Given the description of an element on the screen output the (x, y) to click on. 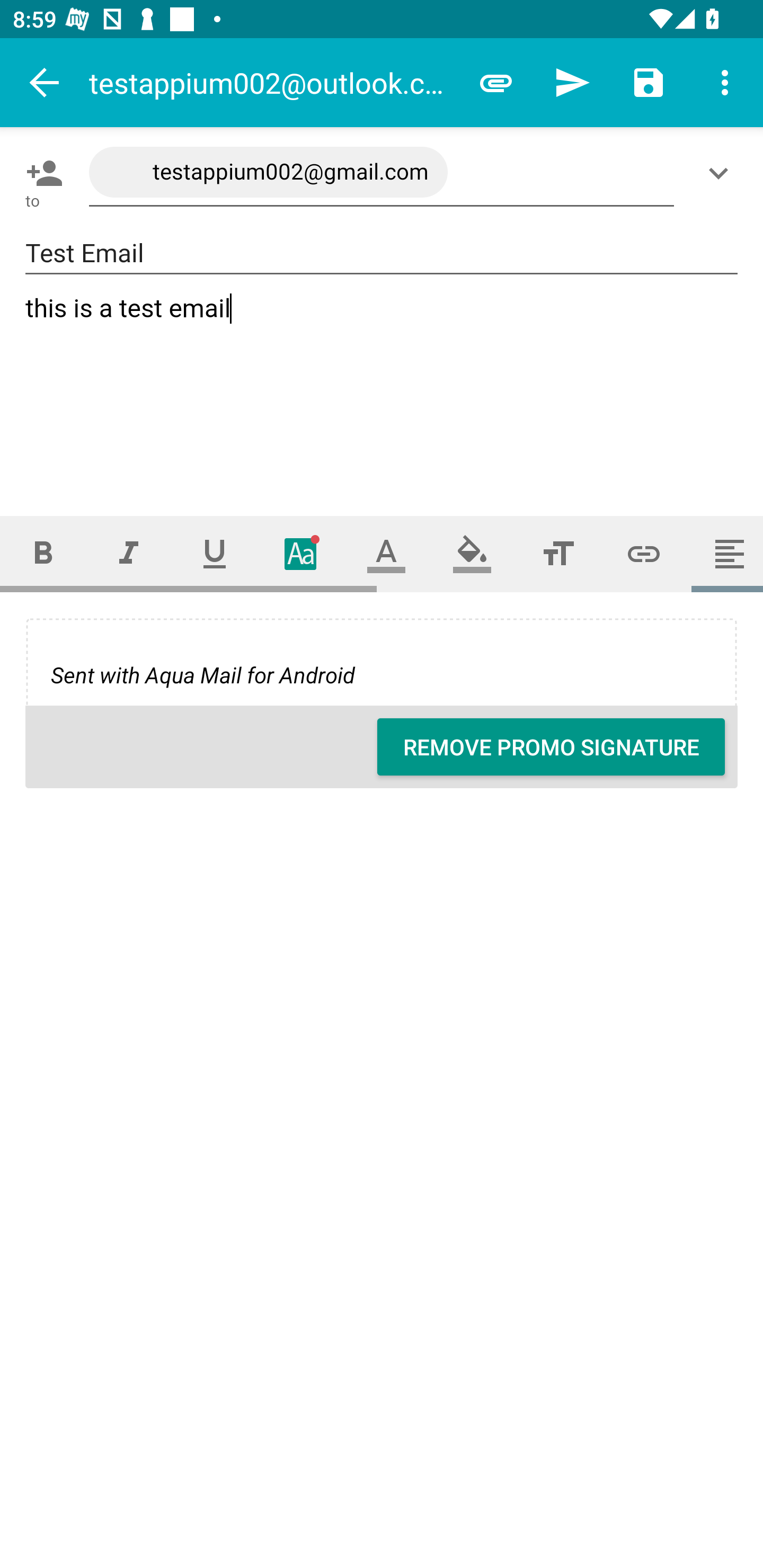
Navigate up (44, 82)
testappium002@outlook.com (273, 82)
Attach (495, 82)
Send (572, 82)
Save (648, 82)
More options (724, 81)
testappium002@gmail.com,  (381, 173)
Pick contact: To (41, 172)
Show/Add CC/BCC (721, 172)
Test Email (381, 252)
this is a test email (381, 388)
Bold (42, 553)
Italic (128, 553)
Underline (214, 553)
Typeface (font) (300, 553)
Text color (385, 553)
Fill color (471, 553)
Font size (558, 553)
Set link (643, 553)
Align left (724, 553)
REMOVE PROMO SIGNATURE (550, 747)
